Given the description of an element on the screen output the (x, y) to click on. 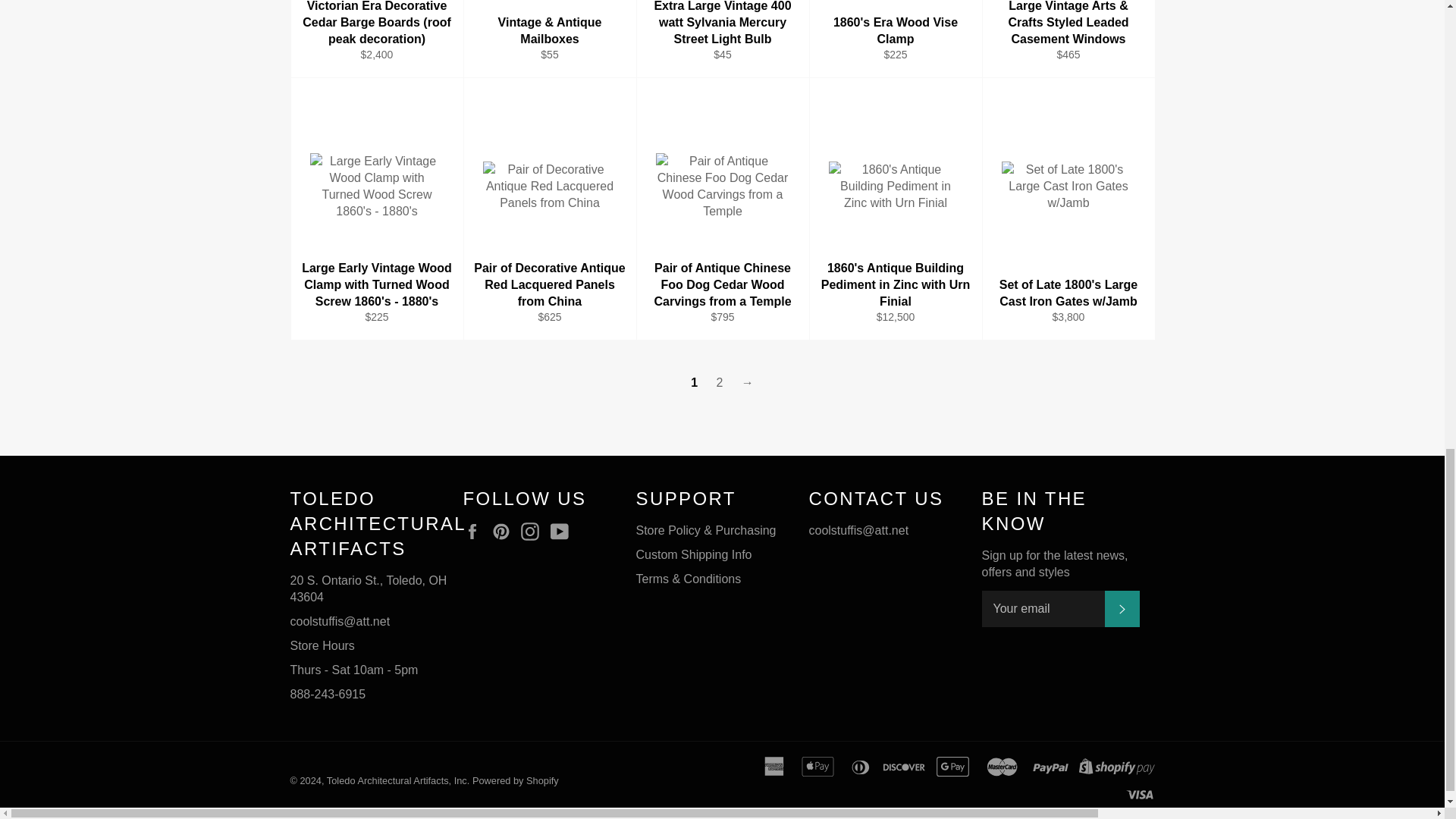
Toledo Architectural Artifacts, Inc on Facebook (475, 531)
Toledo Architectural Artifacts, Inc on Pinterest (505, 531)
Toledo Architectural Artifacts, Inc on YouTube (563, 531)
Toledo Architectural Artifacts, Inc on Instagram (534, 531)
